Given the description of an element on the screen output the (x, y) to click on. 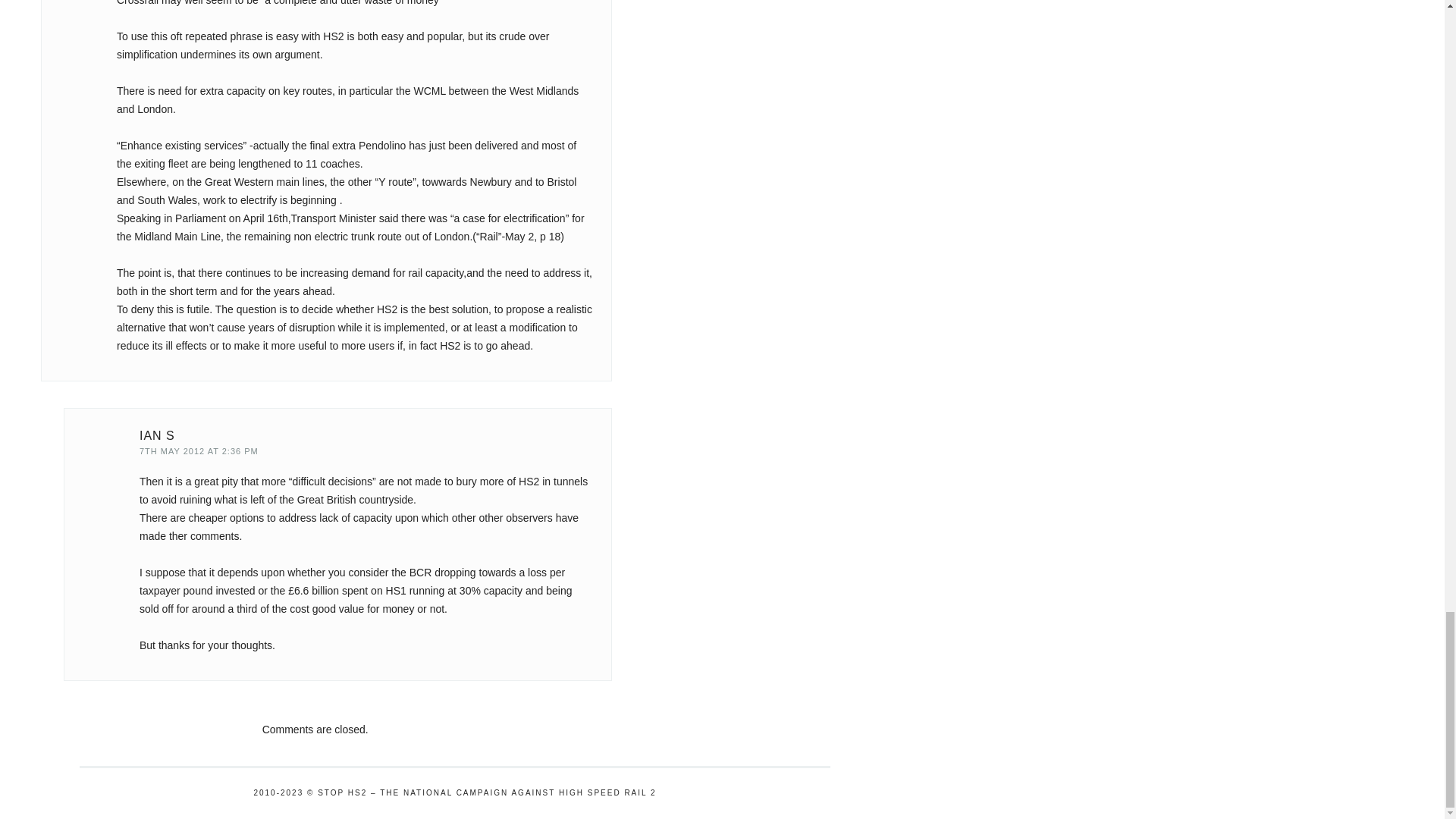
7TH MAY 2012 AT 2:36 PM (199, 450)
